Given the description of an element on the screen output the (x, y) to click on. 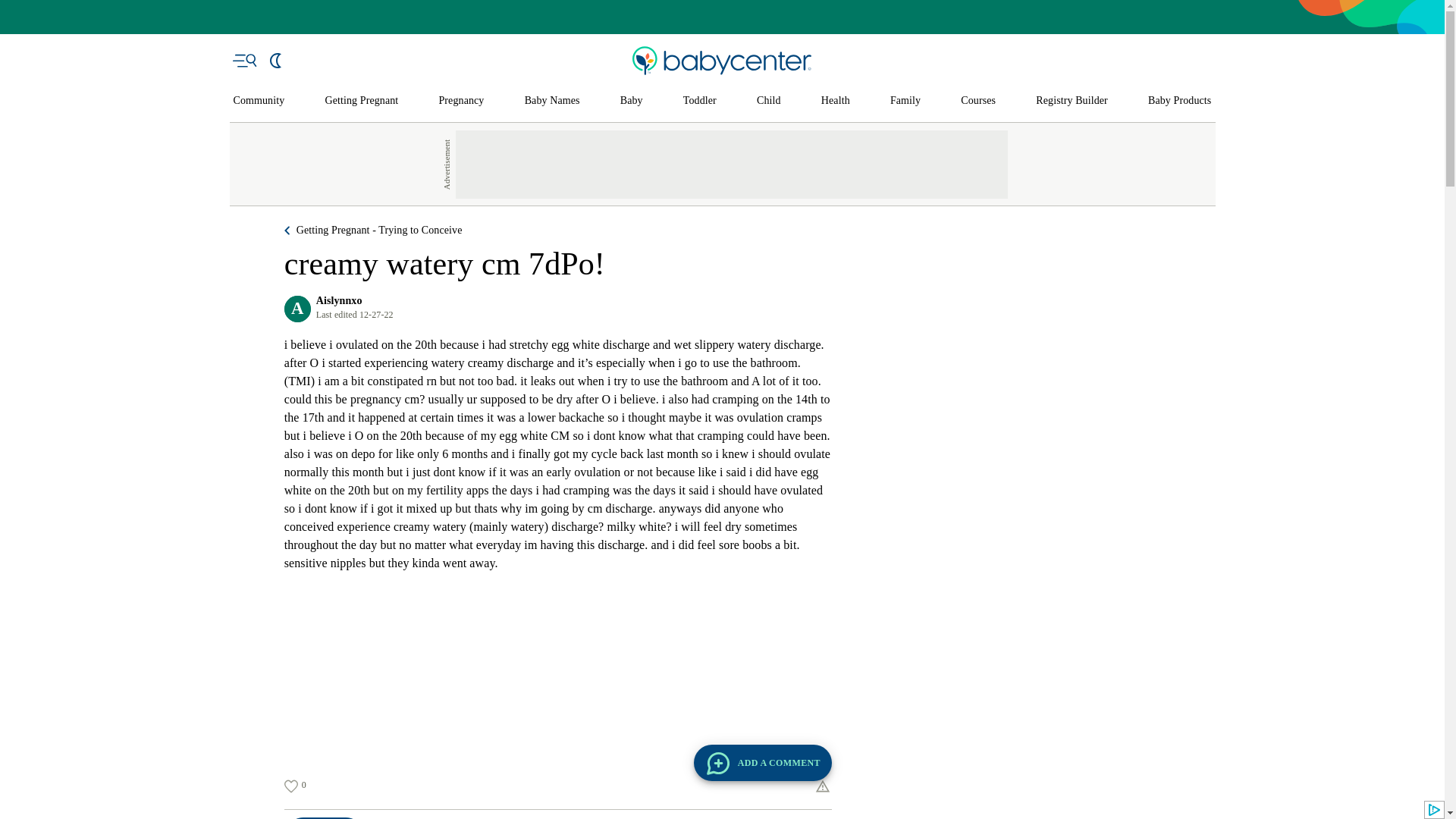
Child (768, 101)
Community (258, 101)
Getting Pregnant (360, 101)
Health (835, 101)
Toddler (699, 101)
Registry Builder (1071, 101)
Family (904, 101)
Courses (977, 101)
Baby (631, 101)
Baby Products (1179, 101)
Baby Names (551, 101)
Pregnancy (460, 101)
